Given the description of an element on the screen output the (x, y) to click on. 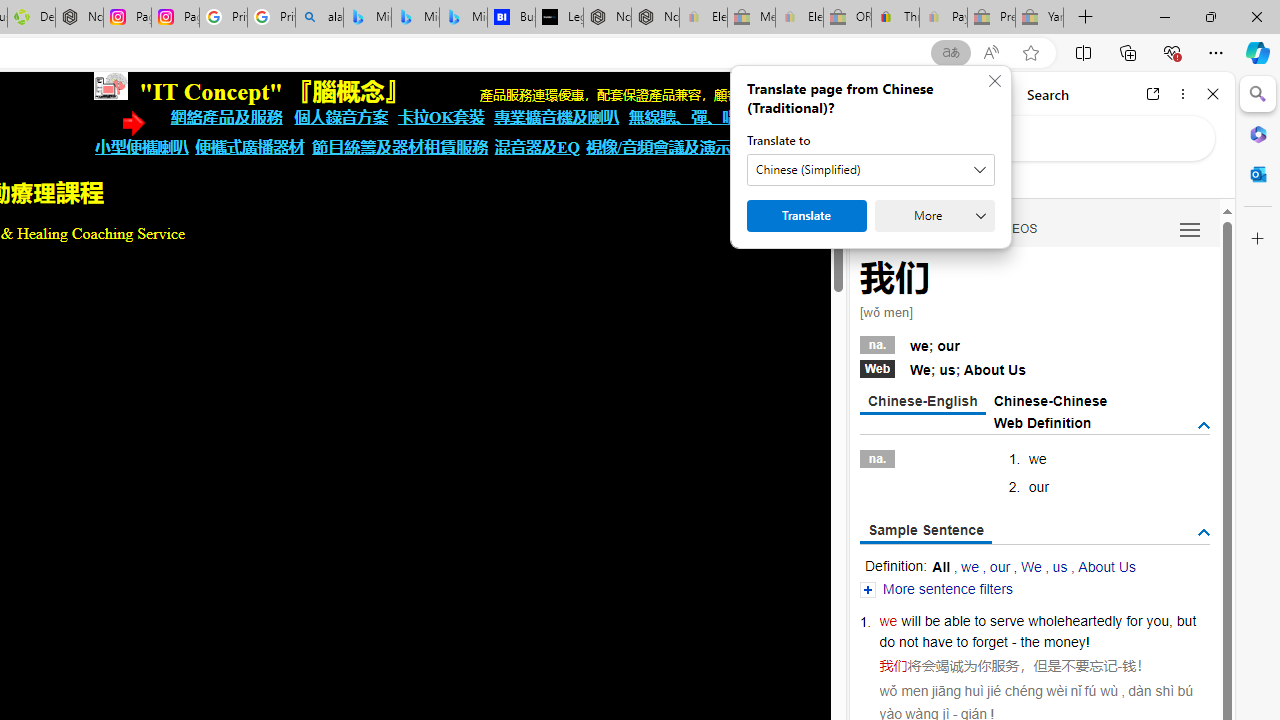
our (1000, 566)
you (1157, 620)
Split screen (1083, 52)
! (1087, 642)
be (932, 620)
Settings and more (Alt+F) (1215, 52)
Web scope (882, 180)
will (911, 620)
Search Filter, VIDEOS (1015, 228)
